Given the description of an element on the screen output the (x, y) to click on. 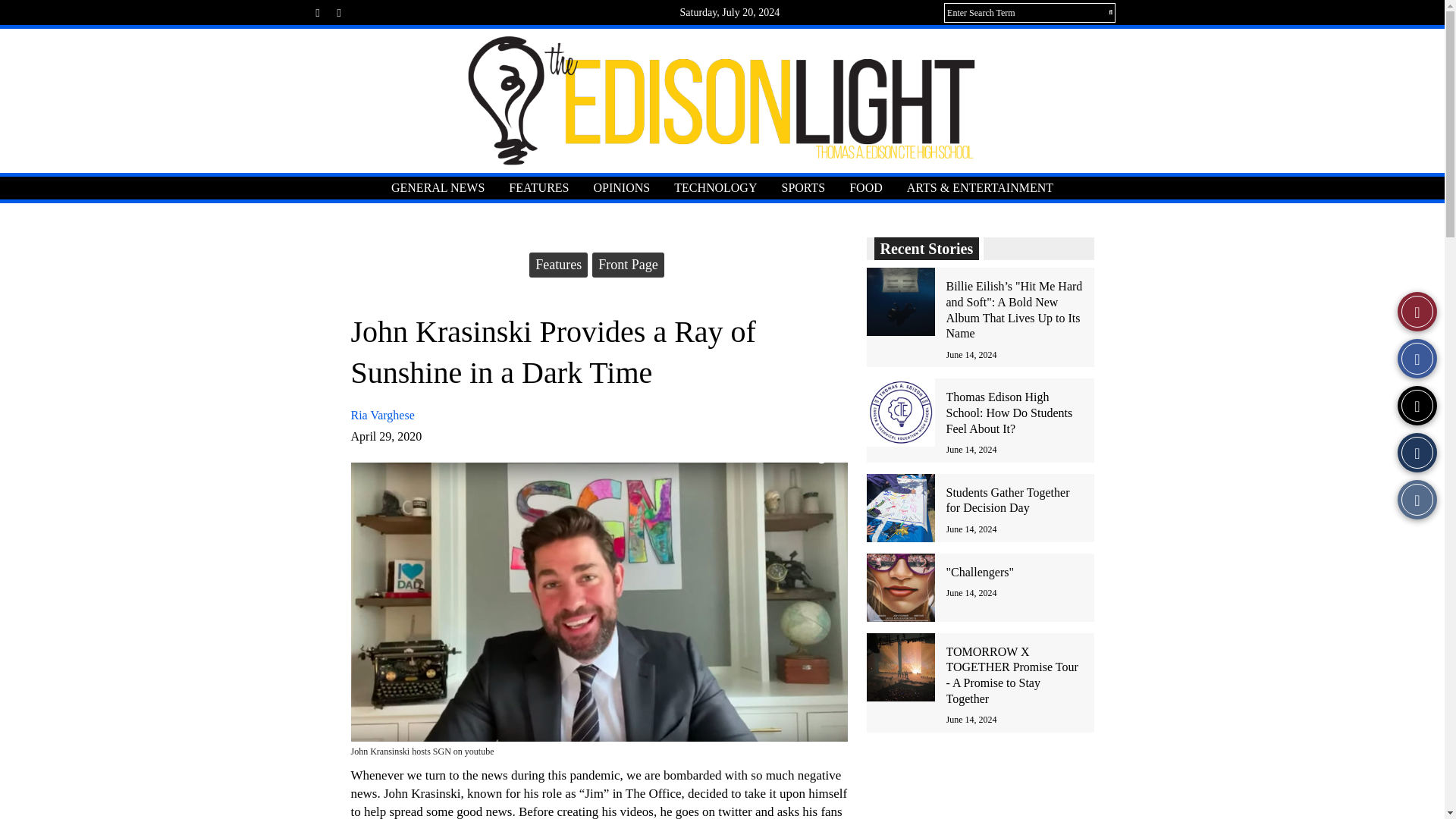
OPINIONS (621, 187)
TECHNOLOGY (715, 187)
FOOD (866, 187)
SPORTS (802, 187)
FEATURES (538, 187)
GENERAL NEWS (437, 187)
